Given the description of an element on the screen output the (x, y) to click on. 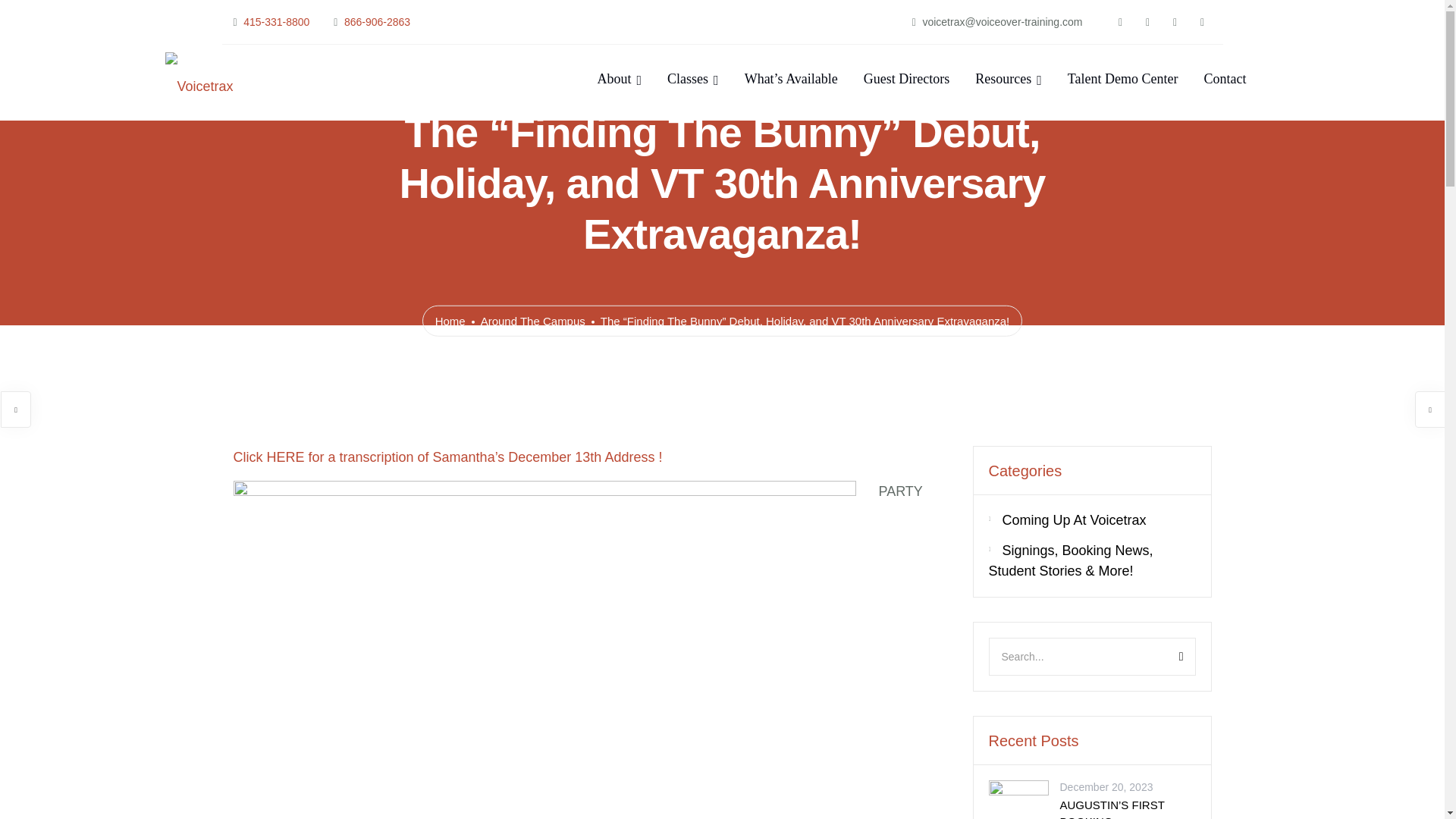
415-331-8800 (275, 21)
Search (1163, 656)
866-906-2863 (376, 21)
